Given the description of an element on the screen output the (x, y) to click on. 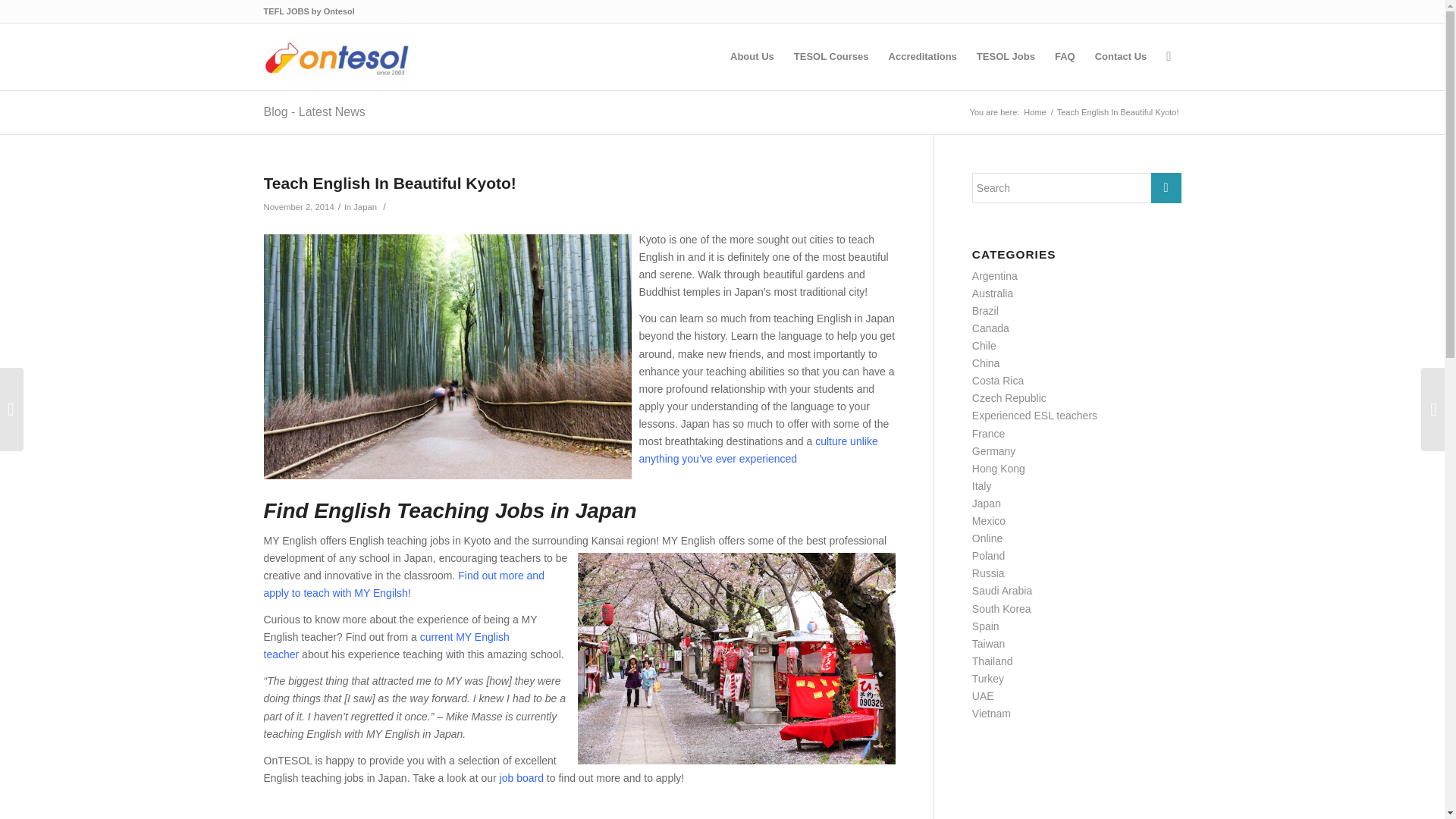
Permanent Link: Teach English In Beautiful Kyoto! (389, 182)
Bamboo Forest, Kyoto, Japan (447, 356)
Blog - Latest News (314, 111)
Experienced ESL teachers (1034, 415)
France (989, 433)
Chile (983, 345)
Find out more and apply to teach with MY Engilsh! (403, 583)
current MY English teacher (386, 645)
About Us (752, 56)
job board (521, 777)
